Given the description of an element on the screen output the (x, y) to click on. 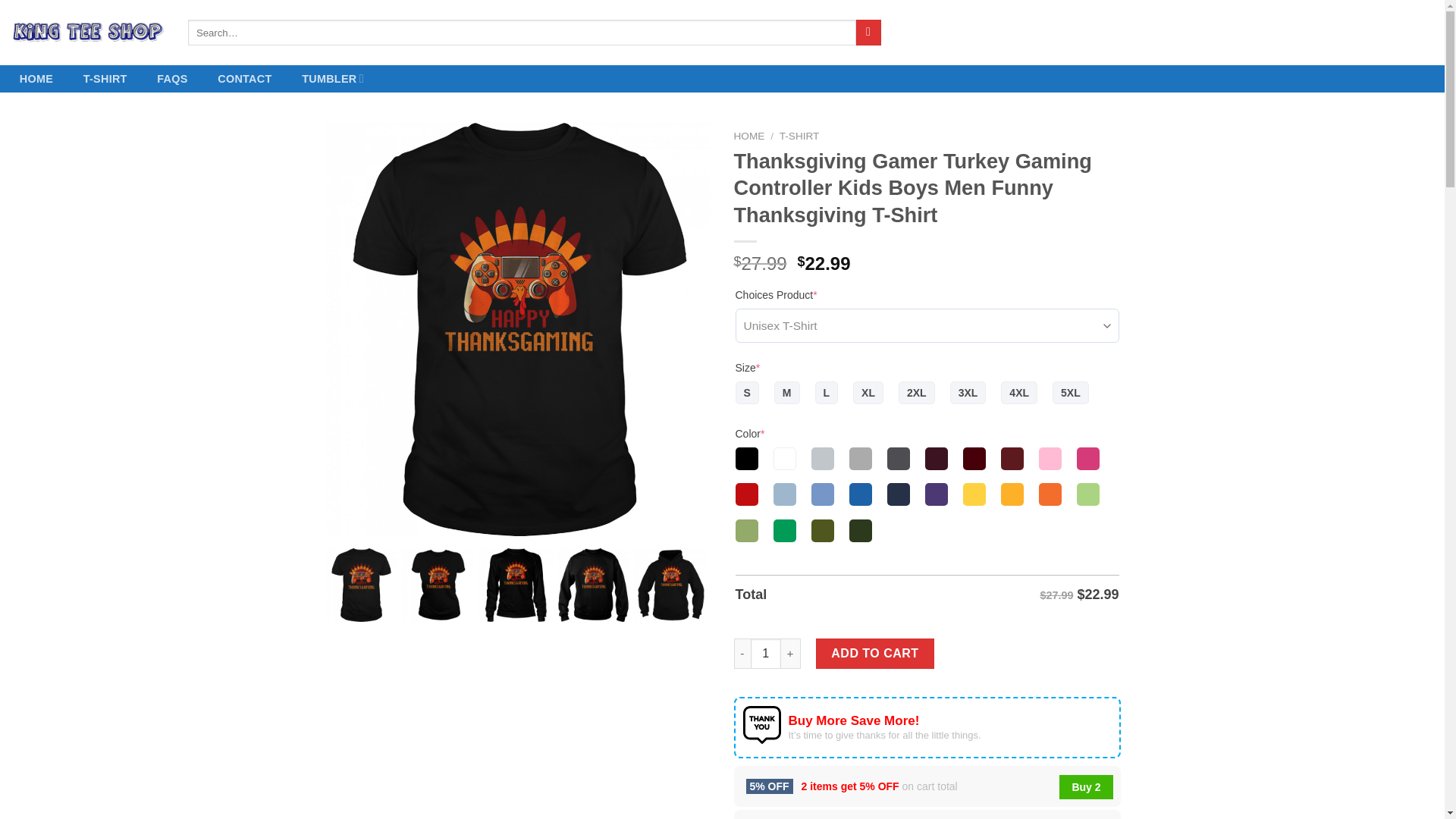
HOME (36, 78)
HOME (749, 135)
Cart (1387, 32)
T-SHIRT (105, 78)
ADD TO CART (874, 653)
T-SHIRT (798, 135)
1 (765, 653)
Qty (765, 653)
- (742, 653)
TUMBLER (332, 78)
CONTACT (244, 78)
KING TEE STORE (88, 32)
FAQS (171, 78)
Search (868, 32)
